Given the description of an element on the screen output the (x, y) to click on. 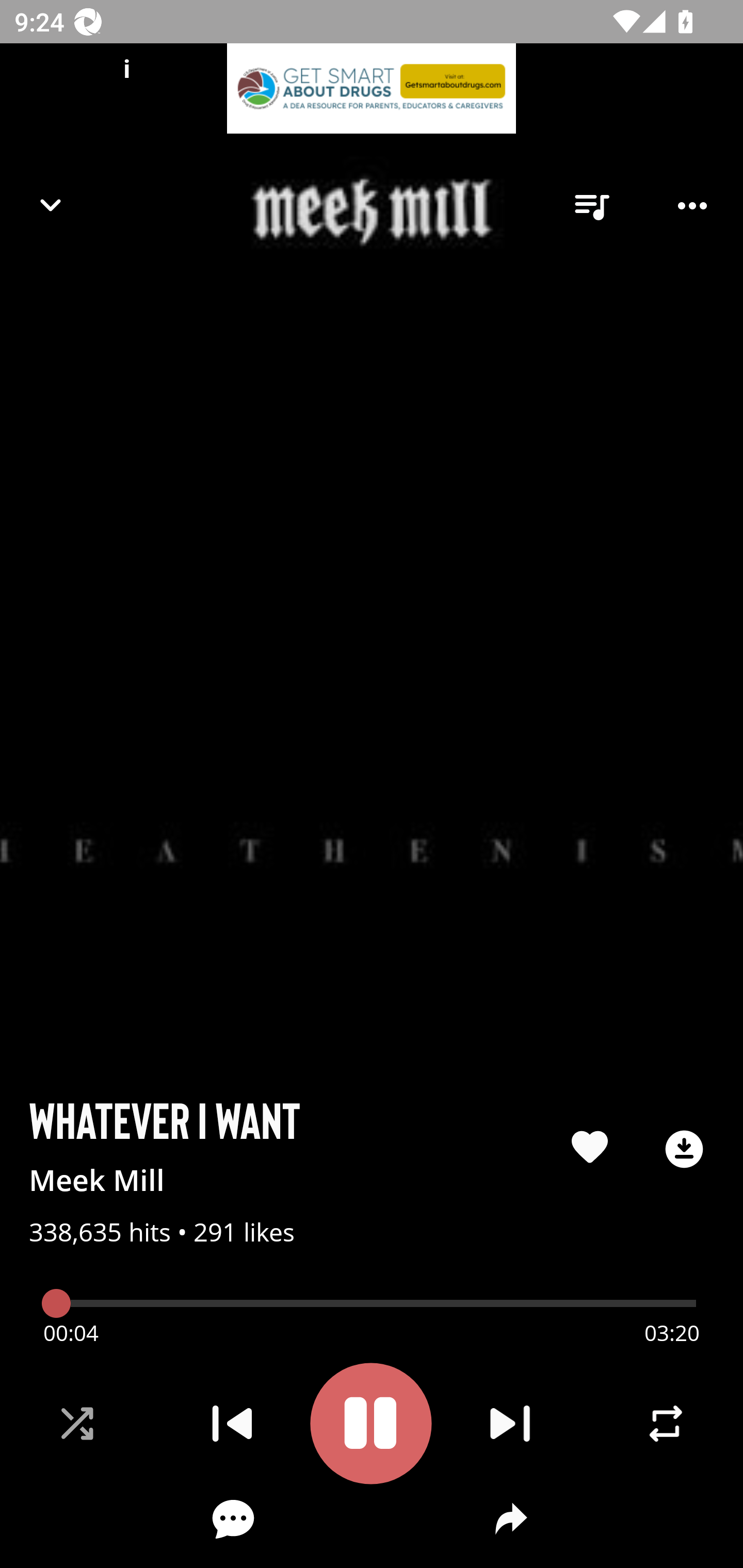
Navigate up (50, 205)
queue (590, 206)
Player options (692, 206)
